Given the description of an element on the screen output the (x, y) to click on. 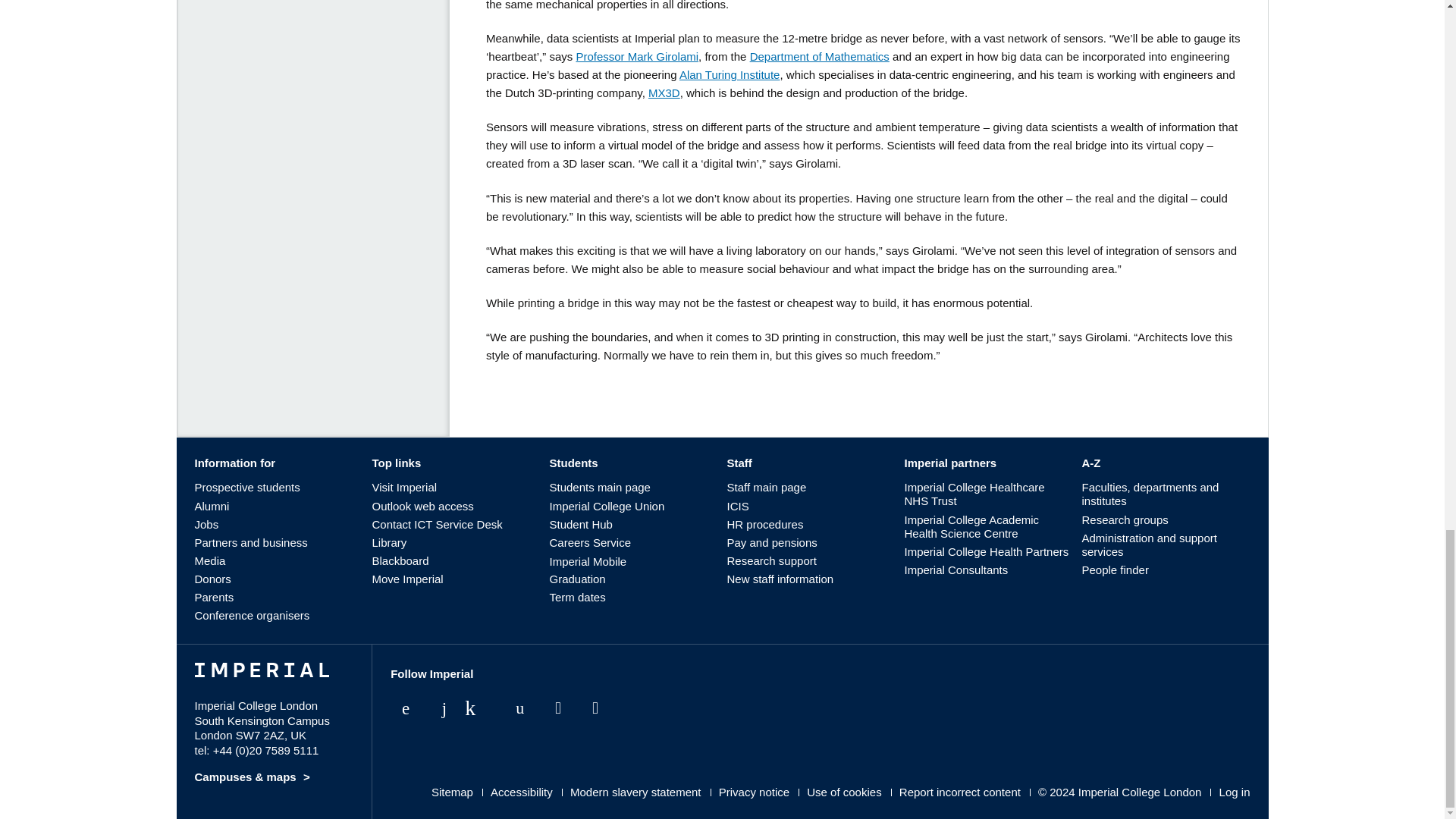
Alan Turing Institute (729, 74)
MX3D (663, 92)
Professor Mark Girolami (636, 56)
